Given the description of an element on the screen output the (x, y) to click on. 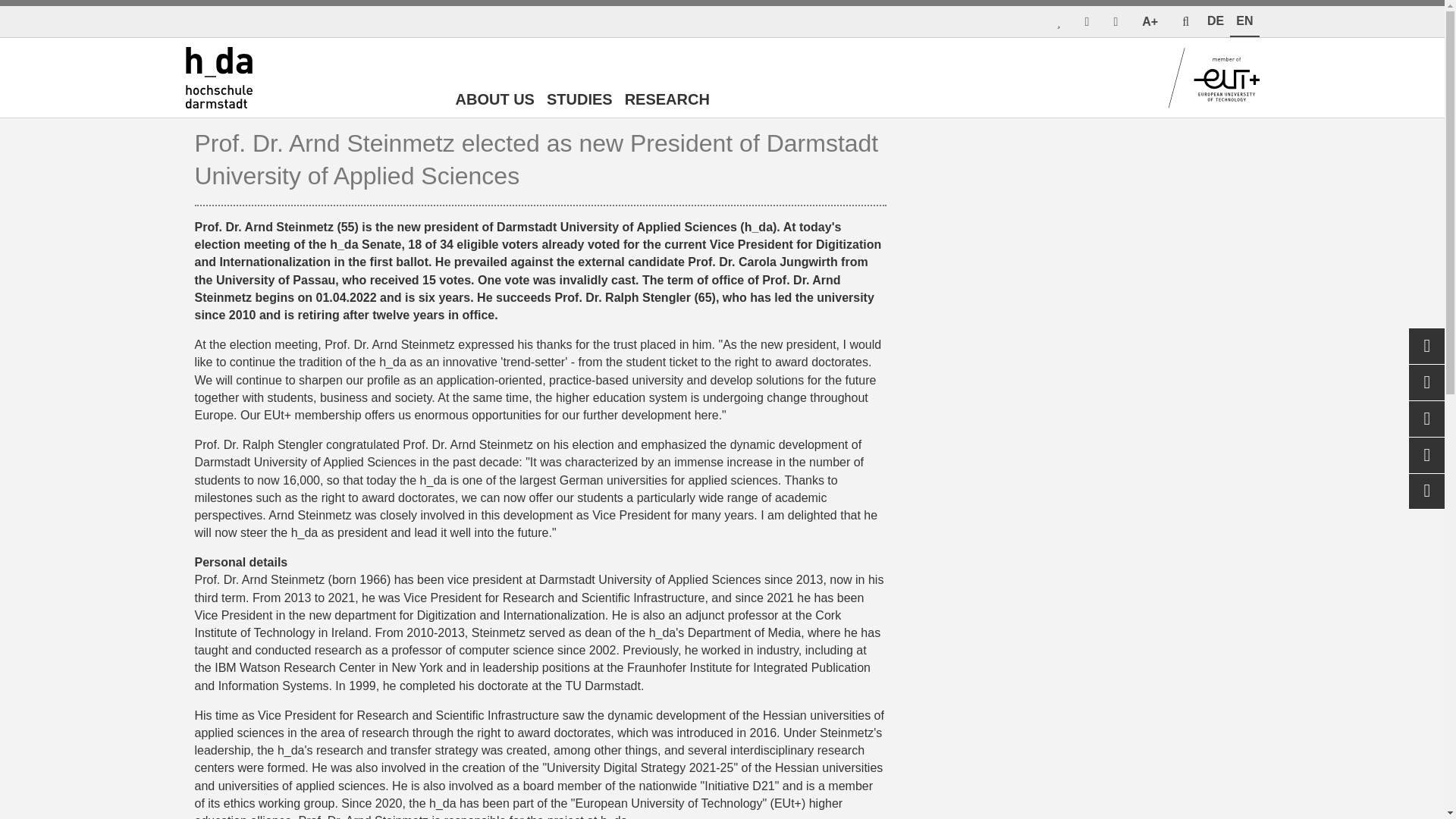
EN (1244, 20)
Login (1087, 21)
About us (494, 101)
Home (213, 77)
EN (1244, 20)
DE (1215, 20)
quicklinks mode (1057, 21)
DE (1215, 20)
Colormode (1114, 21)
Fontsize (1149, 21)
ABOUT US (494, 101)
